Given the description of an element on the screen output the (x, y) to click on. 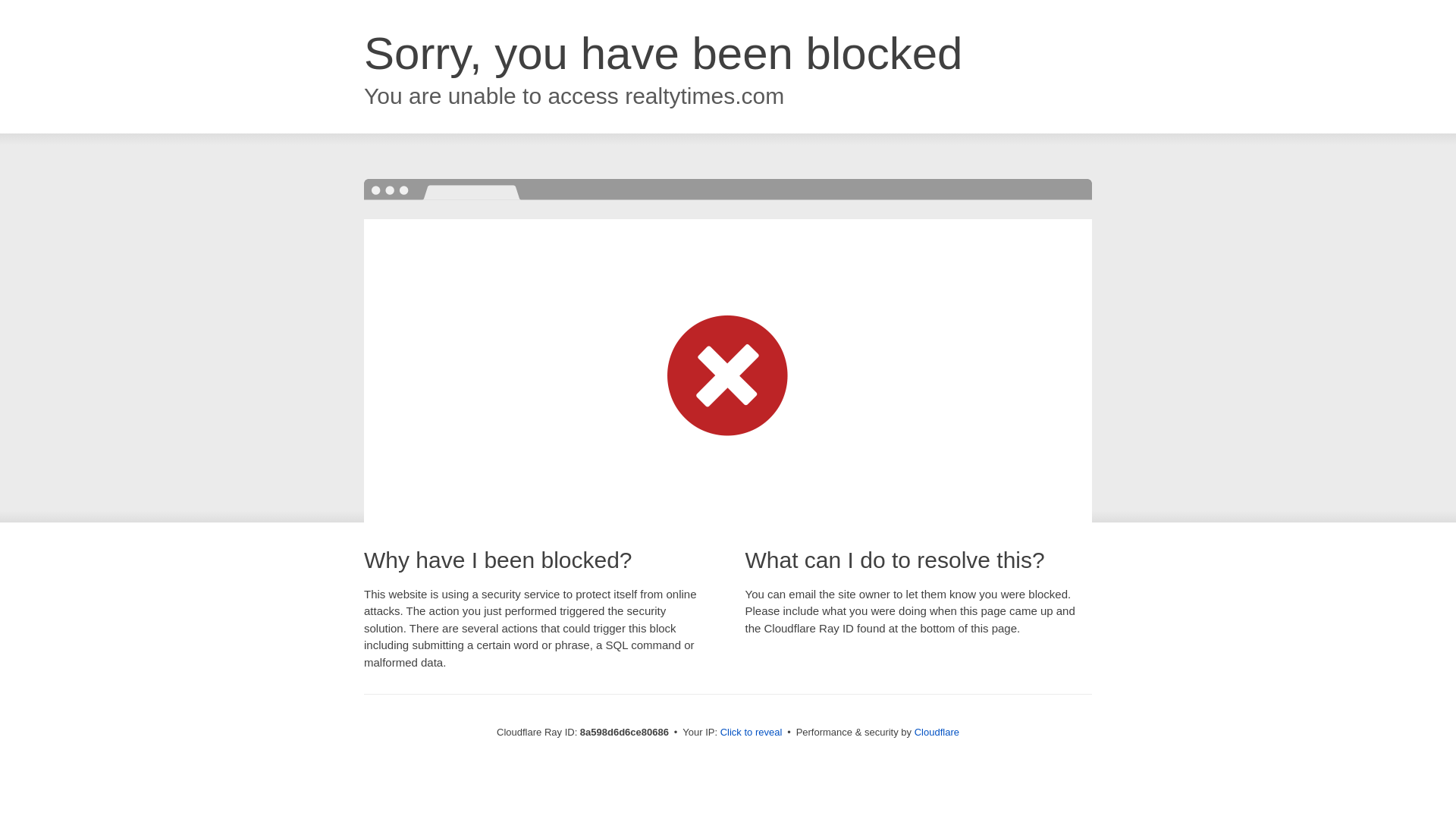
Click to reveal (751, 732)
Cloudflare (936, 731)
